Given the description of an element on the screen output the (x, y) to click on. 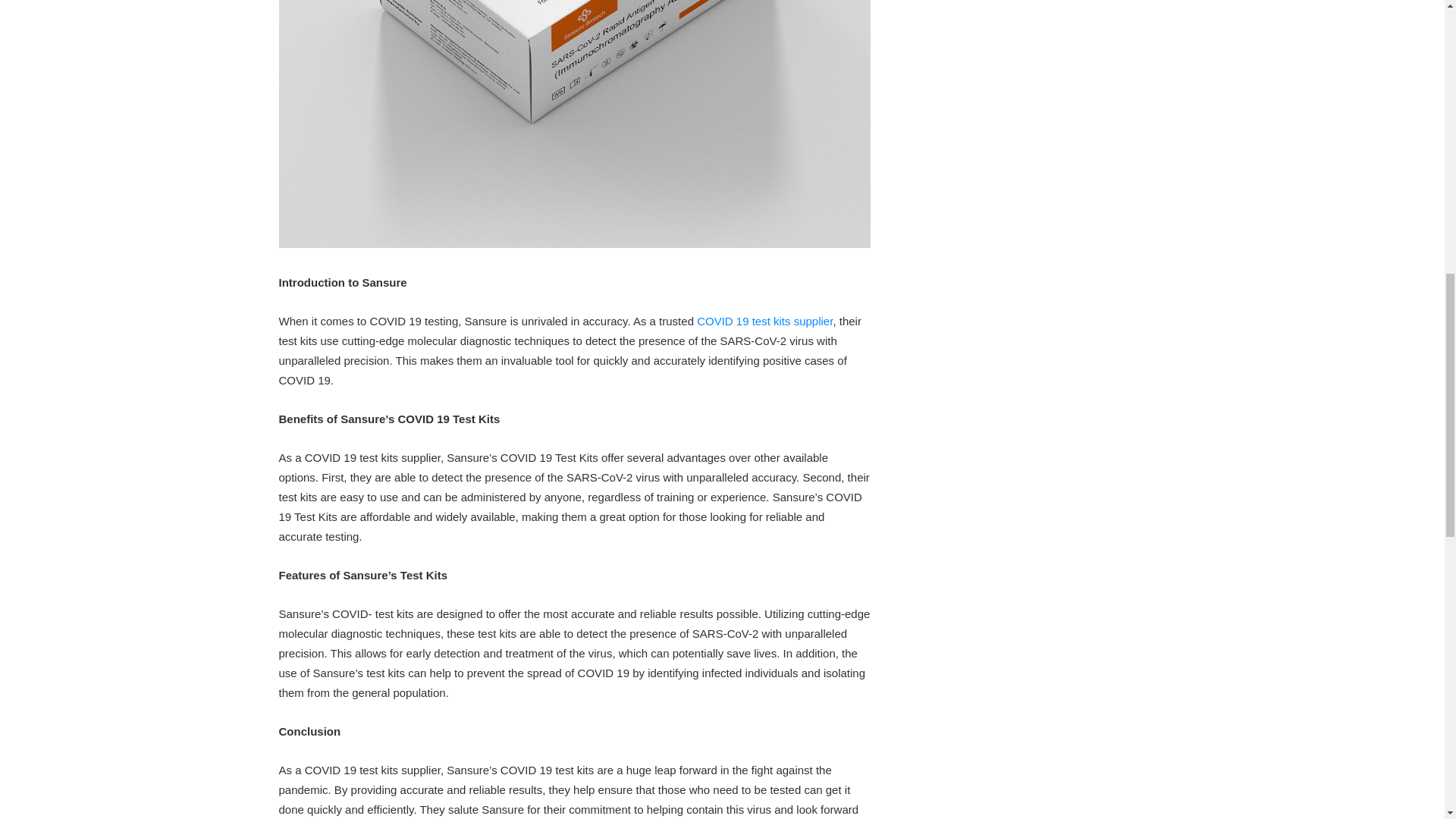
COVID 19 test kits supplier (764, 320)
